Given the description of an element on the screen output the (x, y) to click on. 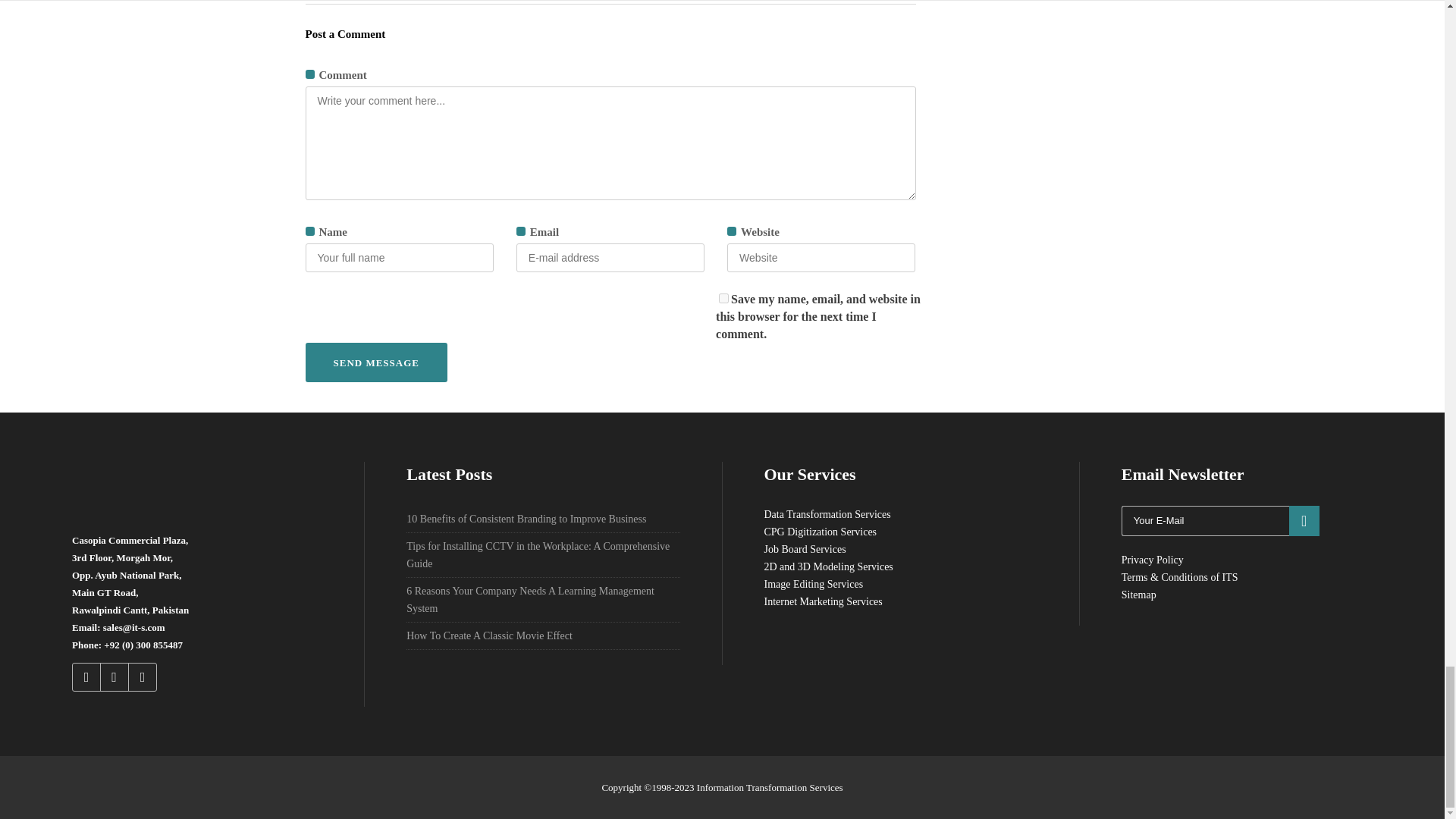
yes (724, 298)
Send message (375, 362)
